Given the description of an element on the screen output the (x, y) to click on. 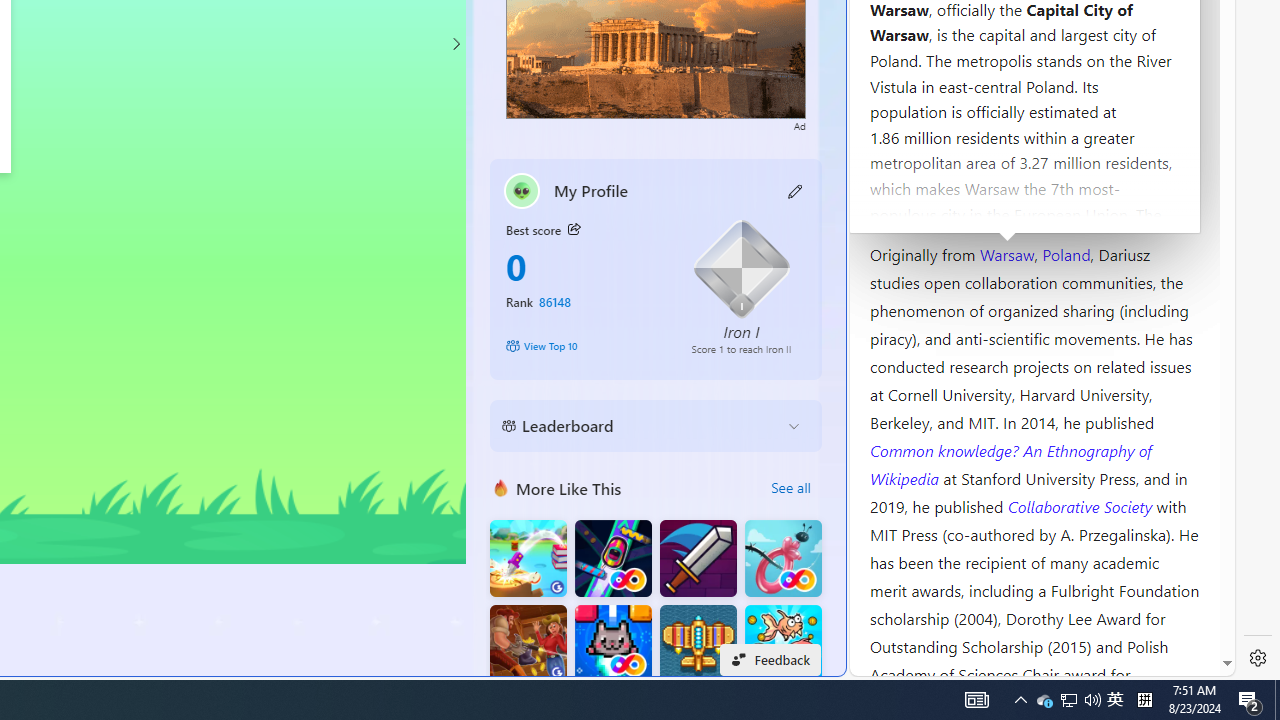
Collaborative Society  (1082, 505)
Harvard University (934, 205)
Class: button (574, 229)
Atlantic Sky Hunter (698, 643)
Saloon Robbery (528, 643)
Ad (799, 124)
""'s avatar (522, 190)
Fish Merge FRVR (783, 643)
Knife Flip (528, 558)
MSN (687, 223)
